Given the description of an element on the screen output the (x, y) to click on. 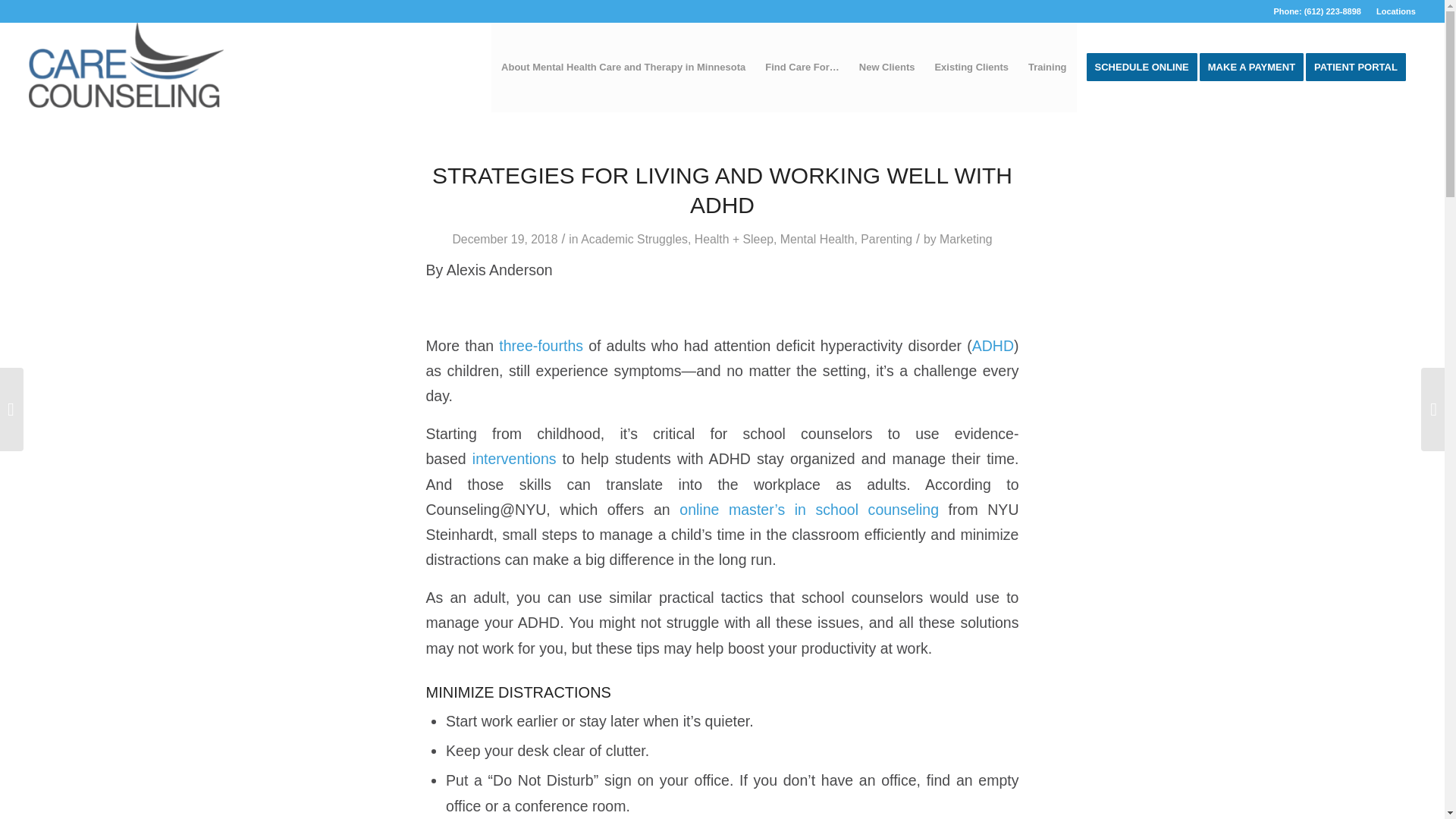
Locations (1395, 11)
About Mental Health Care and Therapy in Minnesota (623, 67)
Posts by Marketing (965, 238)
Existing Clients (970, 67)
